Given the description of an element on the screen output the (x, y) to click on. 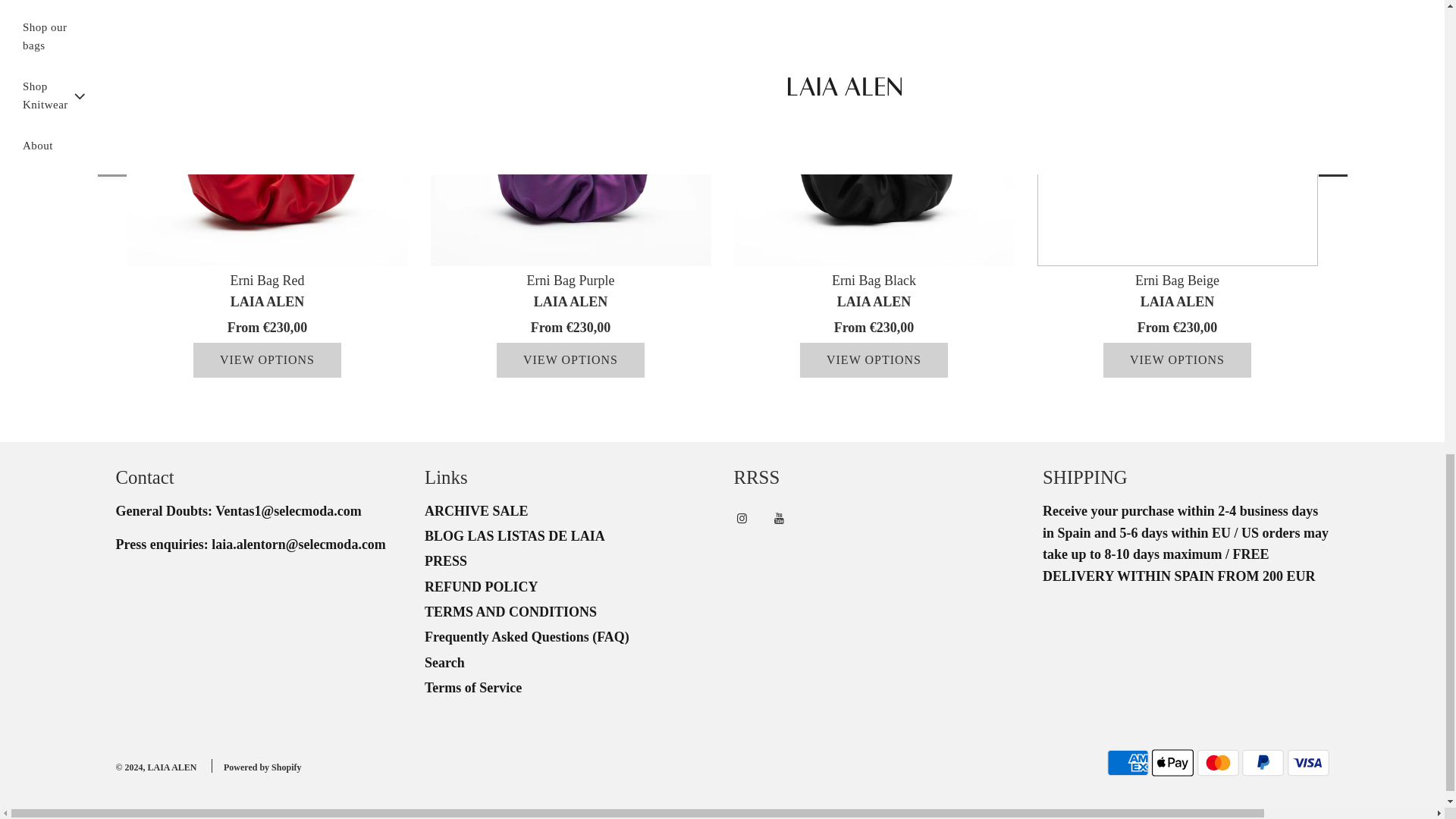
PayPal (1262, 762)
Mastercard (1217, 762)
Apple Pay (1172, 762)
Erni Bag Beige (1176, 133)
Erni Bag Red (267, 280)
Erni Bag Red (267, 133)
American Express (1127, 762)
Erni Bag Purple (570, 133)
Erni Bag Black (873, 133)
Visa (1308, 762)
